Given the description of an element on the screen output the (x, y) to click on. 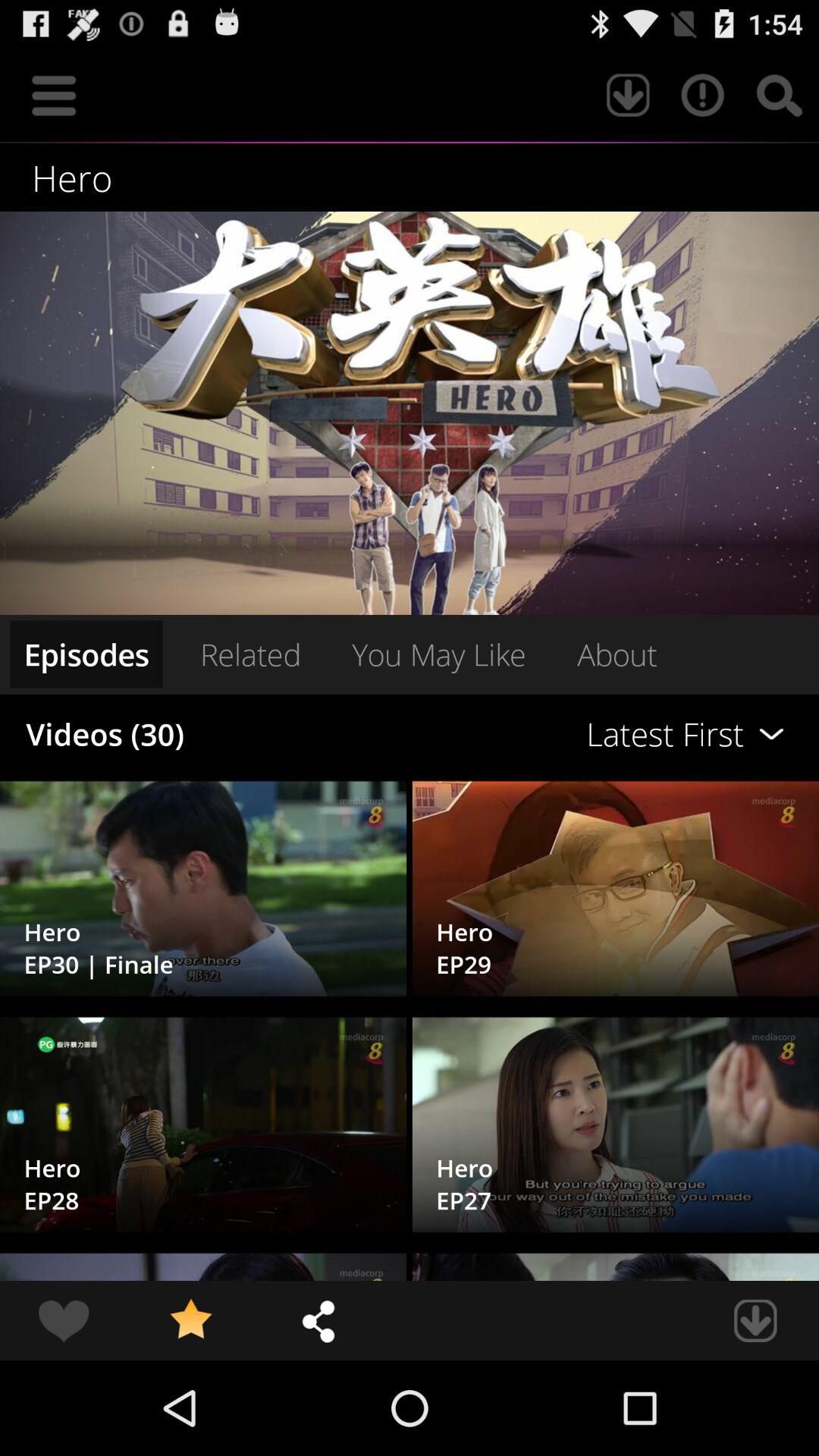
open item next to episodes icon (250, 654)
